Given the description of an element on the screen output the (x, y) to click on. 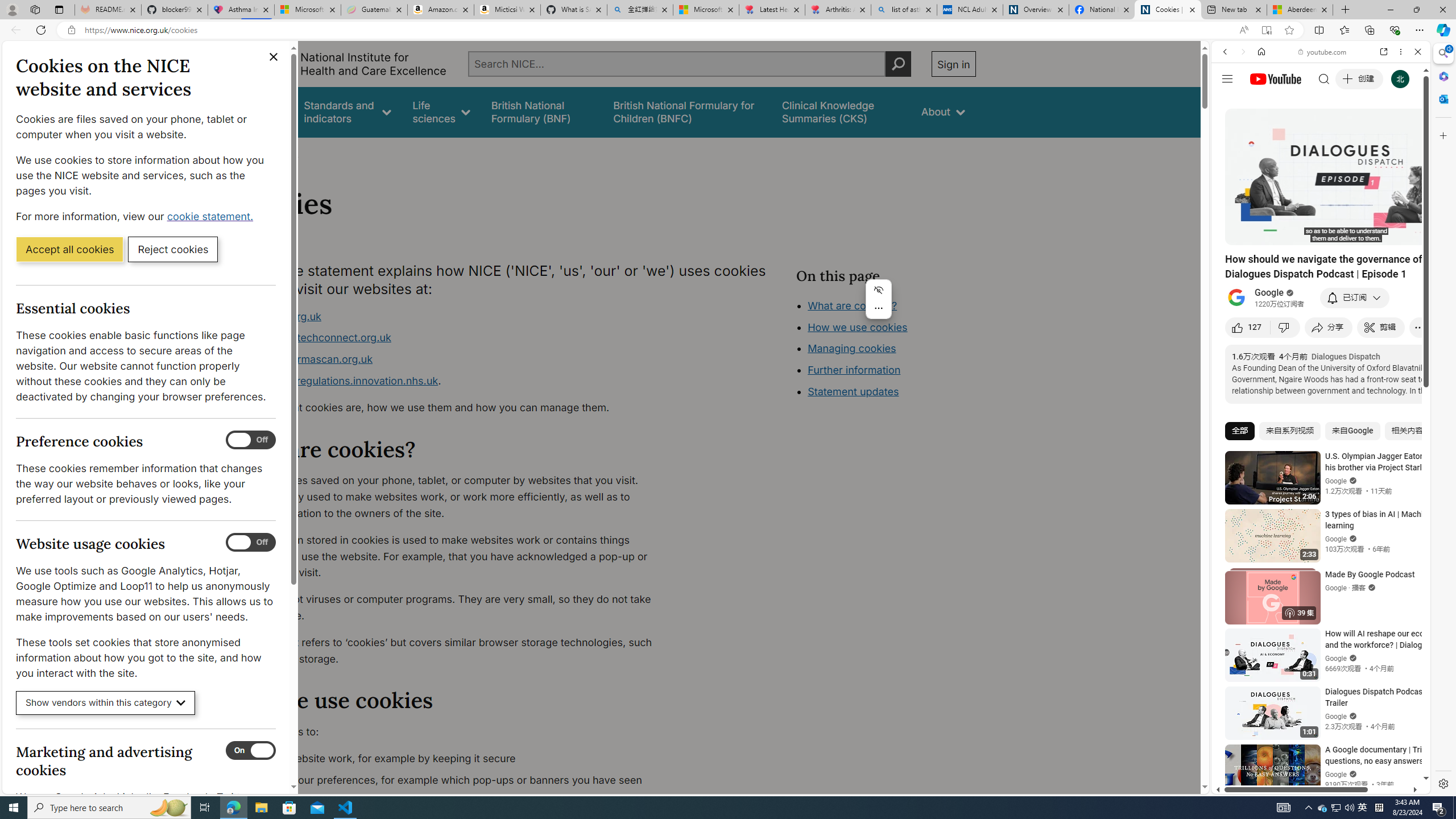
Search videos from youtube.com (1299, 373)
Accept all cookies (69, 248)
Class: in-page-nav__list (884, 349)
